Given the description of an element on the screen output the (x, y) to click on. 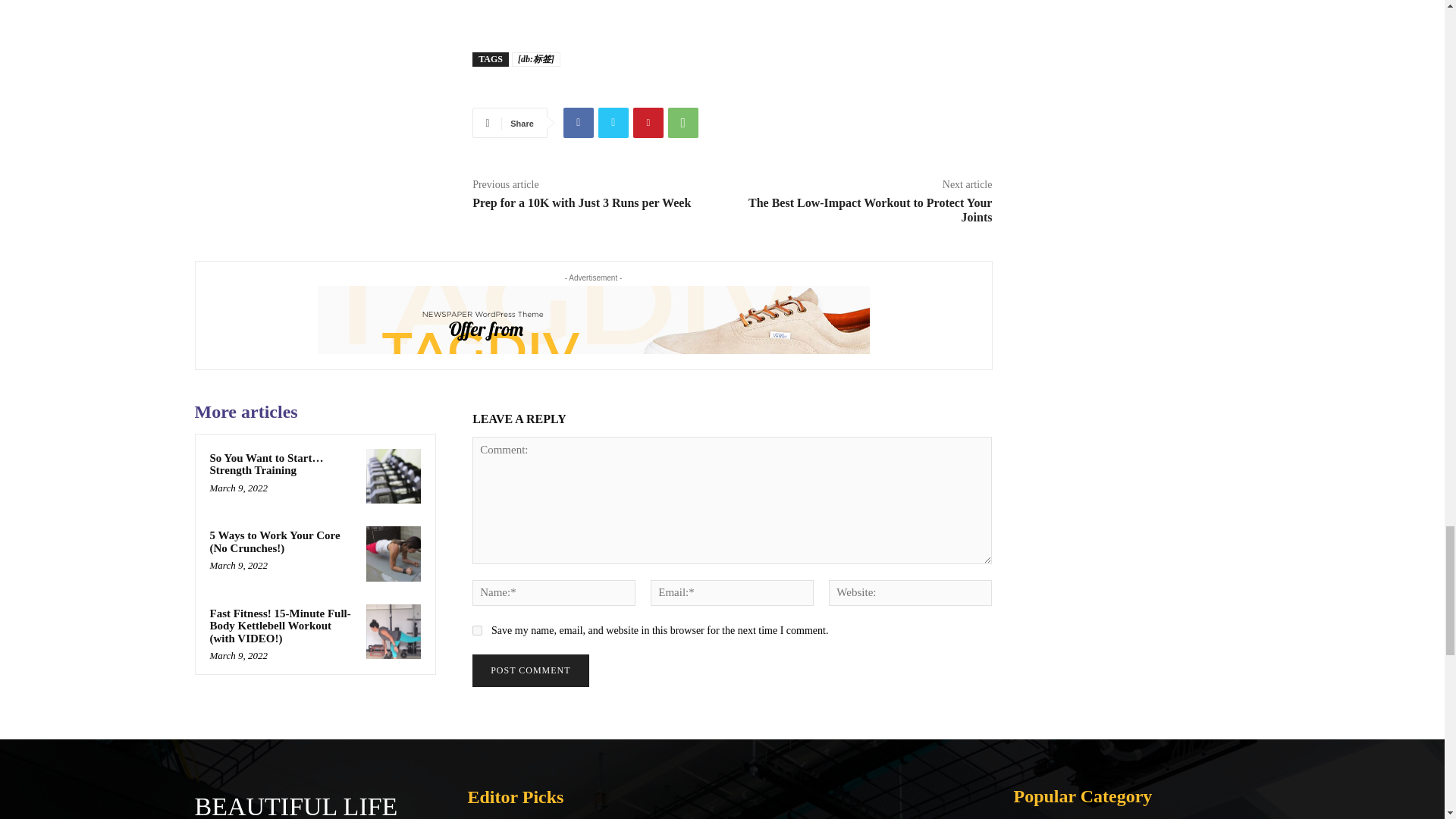
yes (476, 630)
Post Comment (529, 670)
